Given the description of an element on the screen output the (x, y) to click on. 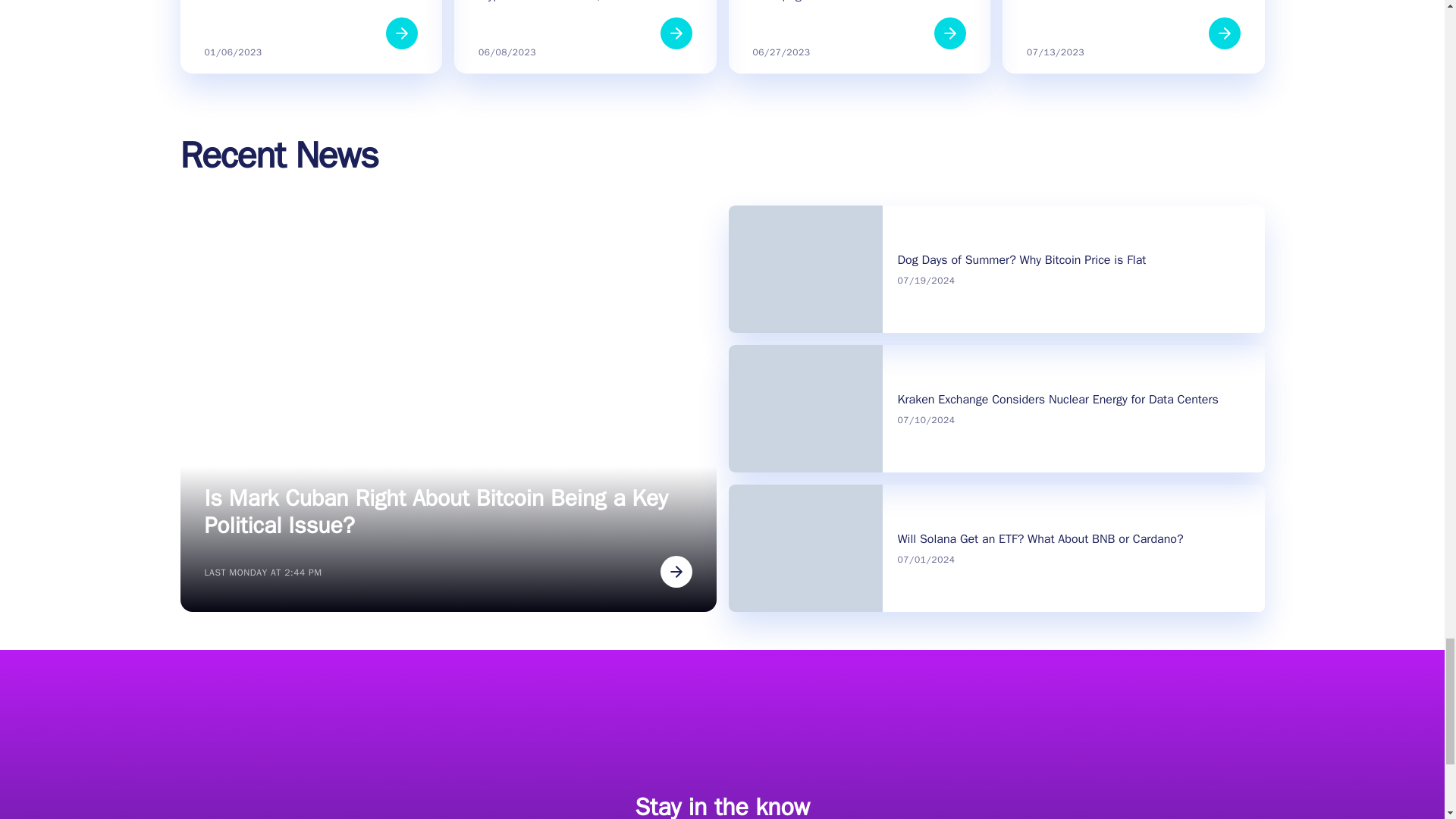
Dog Days of Summer? Why Bitcoin Price is Flat (1022, 259)
Kraken Exchange Considers Nuclear Energy for Data Centers (1058, 399)
Kraken Exchange Considers Nuclear Energy for Data Centers (1058, 399)
Will Solana Get an ETF? What About BNB or Cardano? (1040, 538)
Dog Days of Summer? Why Bitcoin Price is Flat (1022, 259)
